Given the description of an element on the screen output the (x, y) to click on. 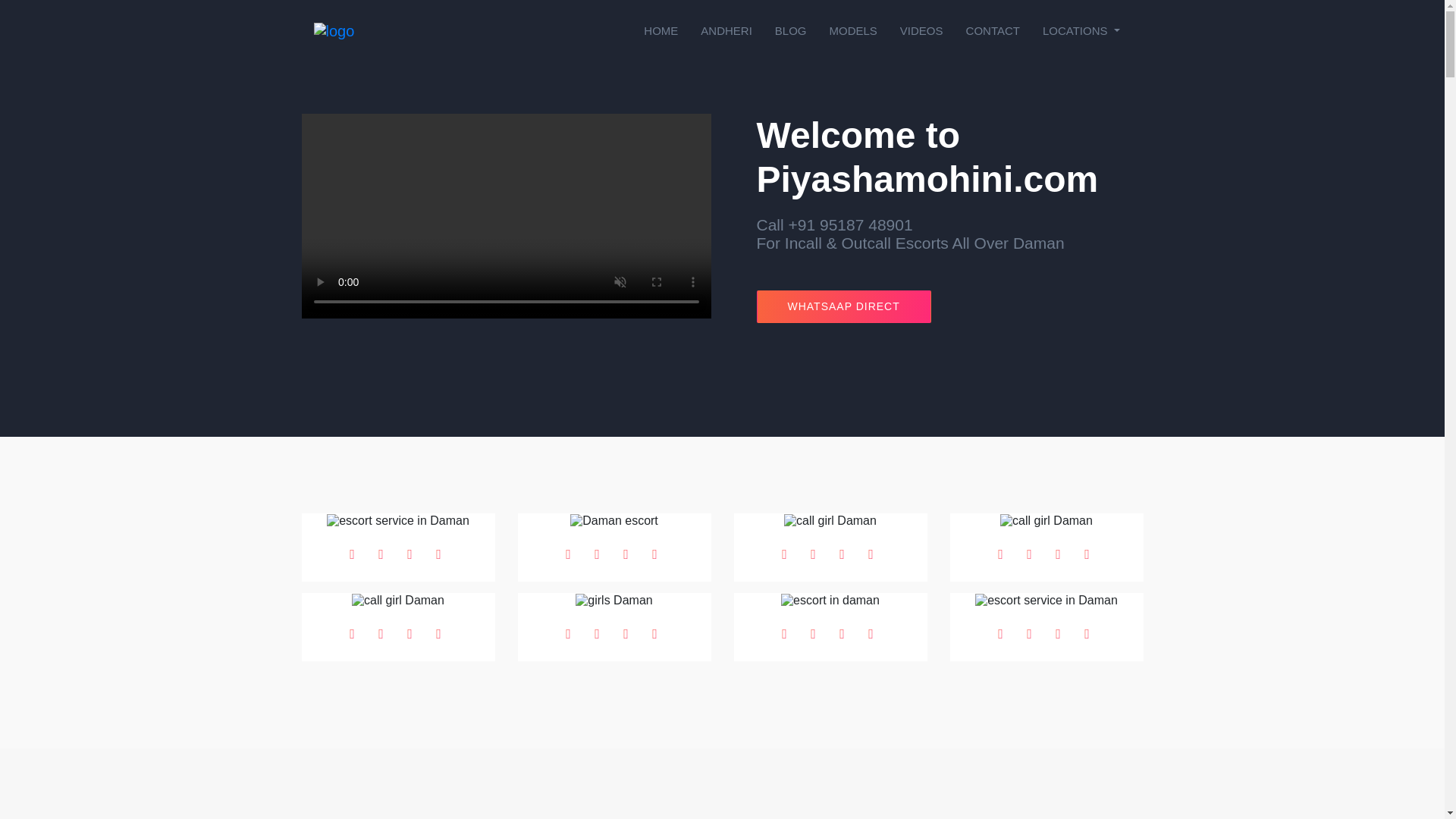
ANDHERI (725, 30)
MODELS (852, 30)
HOME (659, 30)
VIDEOS (921, 30)
LOCATIONS (1080, 30)
CONTACT (992, 30)
WHATSAAP DIRECT (844, 306)
BLOG (790, 30)
